Given the description of an element on the screen output the (x, y) to click on. 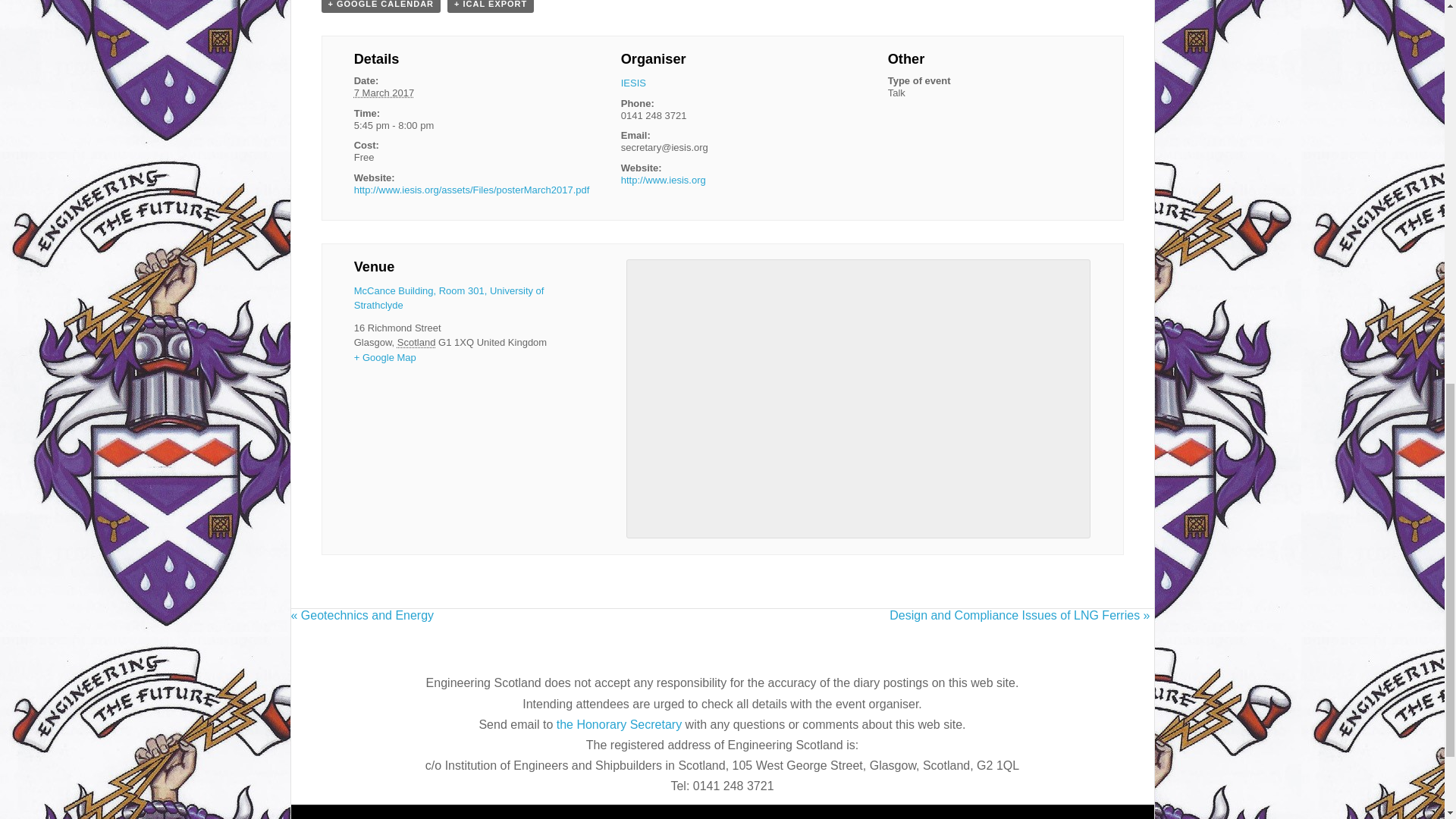
the Honorary Secretary (620, 724)
IESIS (633, 82)
Add to Google Calendar (381, 6)
2017-03-07 (455, 125)
McCance Building, Room 301, University of Strathclyde (448, 298)
2017-03-07 (383, 92)
Click to view a Google Map (384, 357)
IESIS (633, 82)
Scotland (416, 342)
Download .ics file (490, 6)
